Given the description of an element on the screen output the (x, y) to click on. 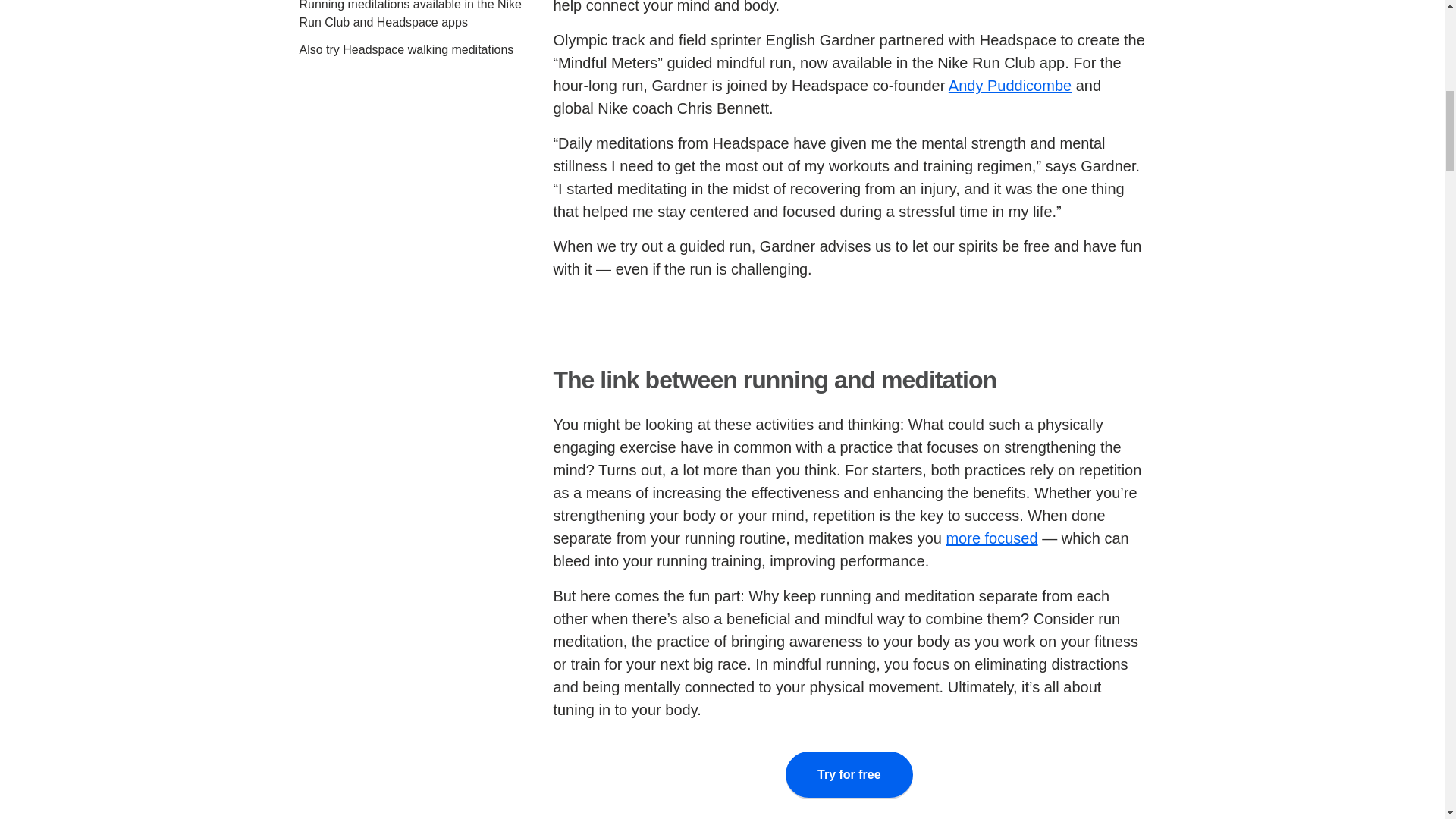
Andy Puddicombe (1010, 85)
Try for free (849, 774)
more focused (990, 538)
Also try Headspace walking meditations (405, 49)
